Given the description of an element on the screen output the (x, y) to click on. 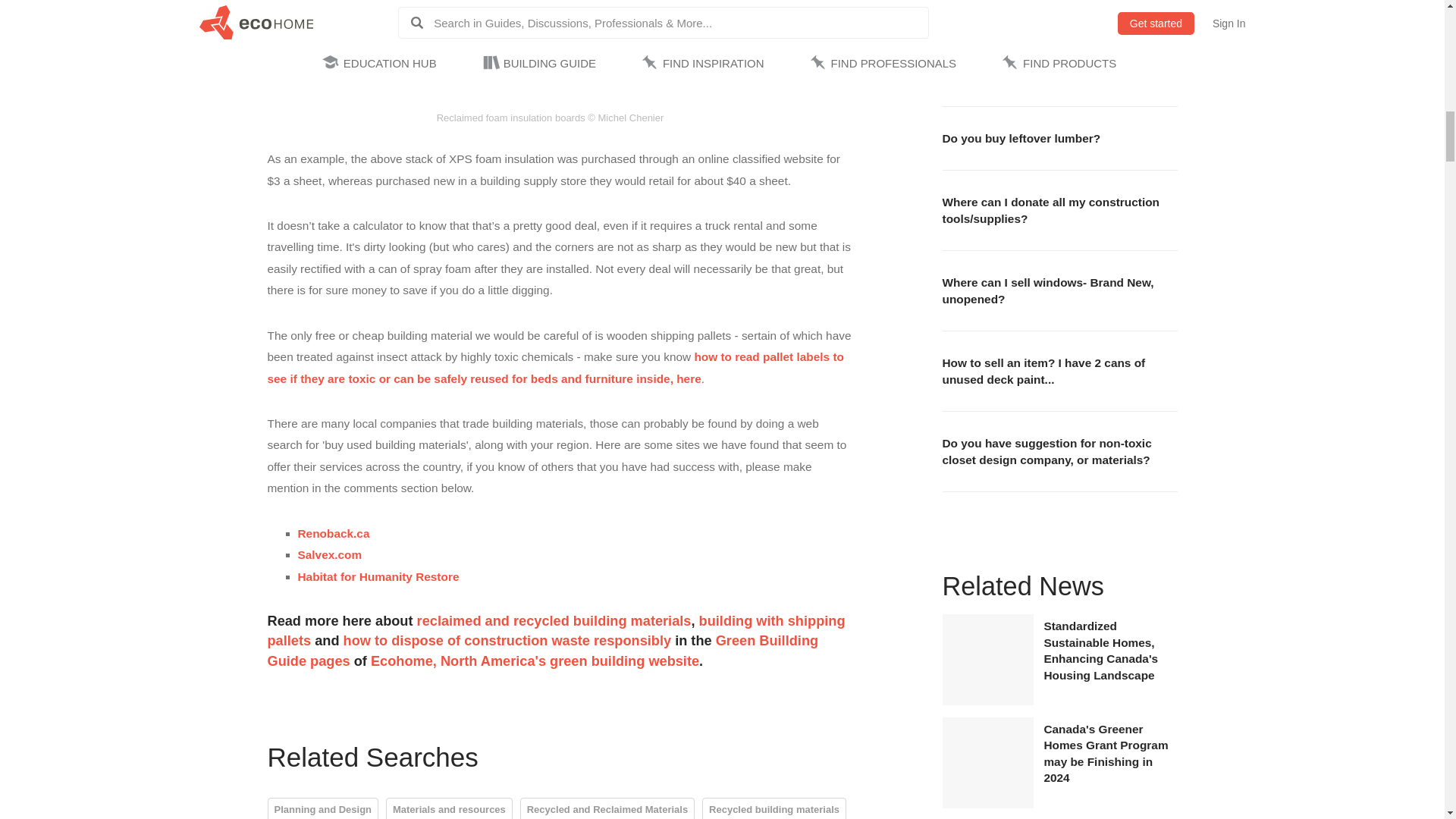
How do I sell my construction materials? (1059, 74)
Where can I sell windows- Brand New, unopened? (1059, 290)
